Given the description of an element on the screen output the (x, y) to click on. 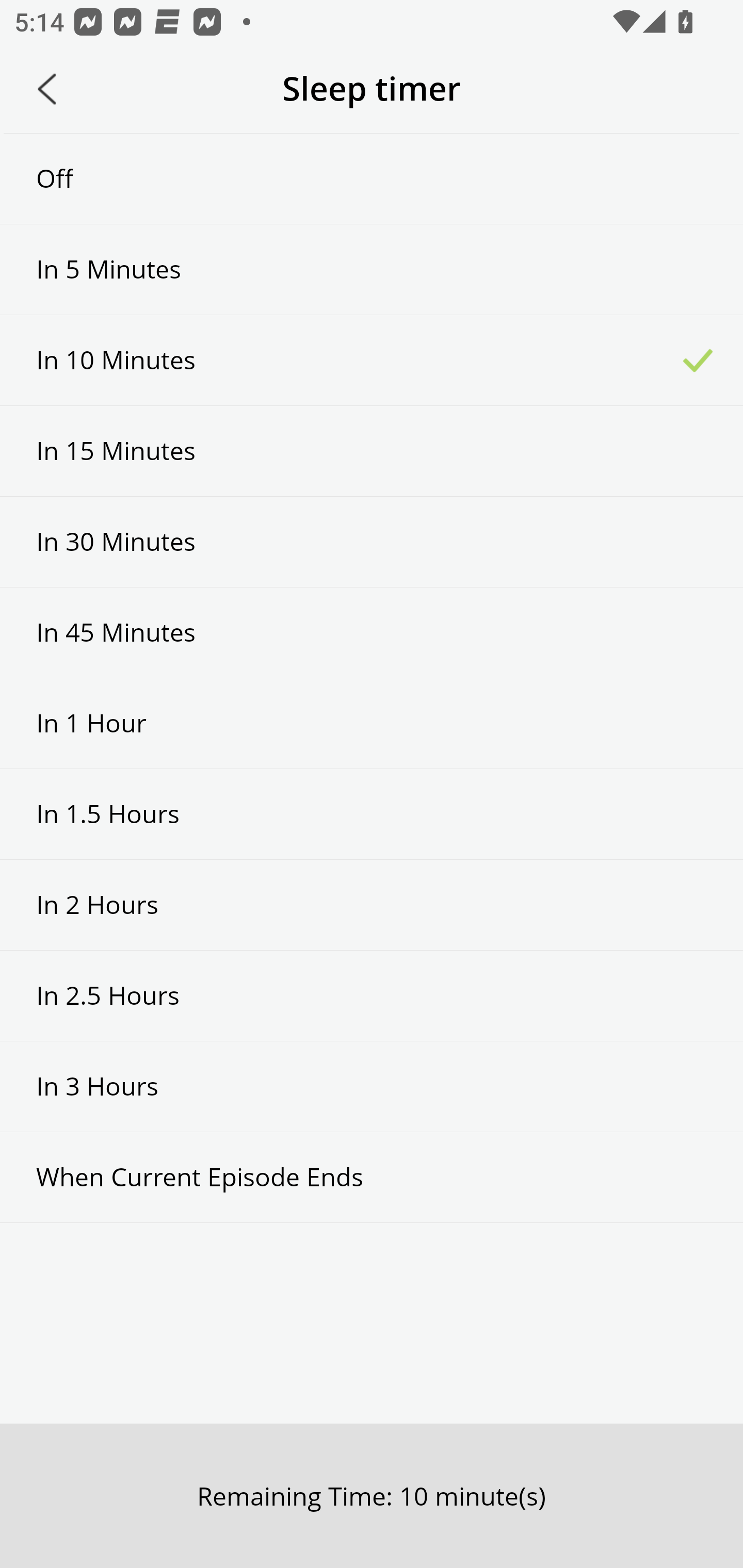
Back (46, 88)
Off (371, 178)
In 5 Minutes (371, 269)
In 10 Minutes (371, 360)
In 15 Minutes (371, 450)
In 30 Minutes (371, 541)
In 45 Minutes (371, 632)
In 1 Hour (371, 723)
In 1.5 Hours (371, 813)
In 2 Hours (371, 904)
In 2.5 Hours (371, 995)
In 3 Hours (371, 1086)
When Current Episode Ends (371, 1177)
